Given the description of an element on the screen output the (x, y) to click on. 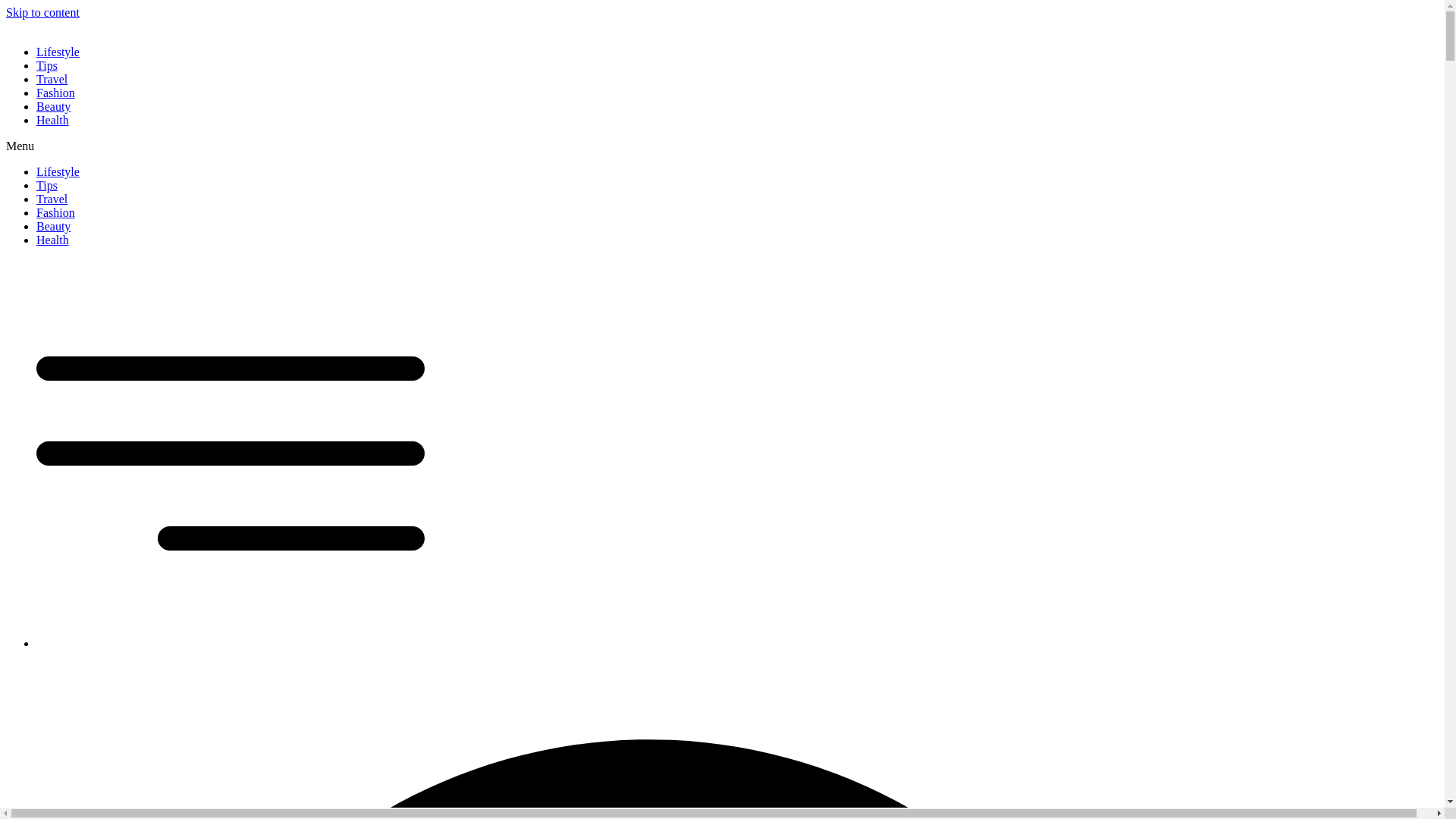
Health (52, 239)
Fashion (55, 92)
Tips (47, 65)
Skip to content (42, 11)
Health (52, 119)
Lifestyle (58, 171)
Beauty (52, 226)
Fashion (55, 212)
Beauty (52, 106)
Tips (47, 185)
Travel (51, 198)
Lifestyle (58, 51)
Travel (51, 78)
